Given the description of an element on the screen output the (x, y) to click on. 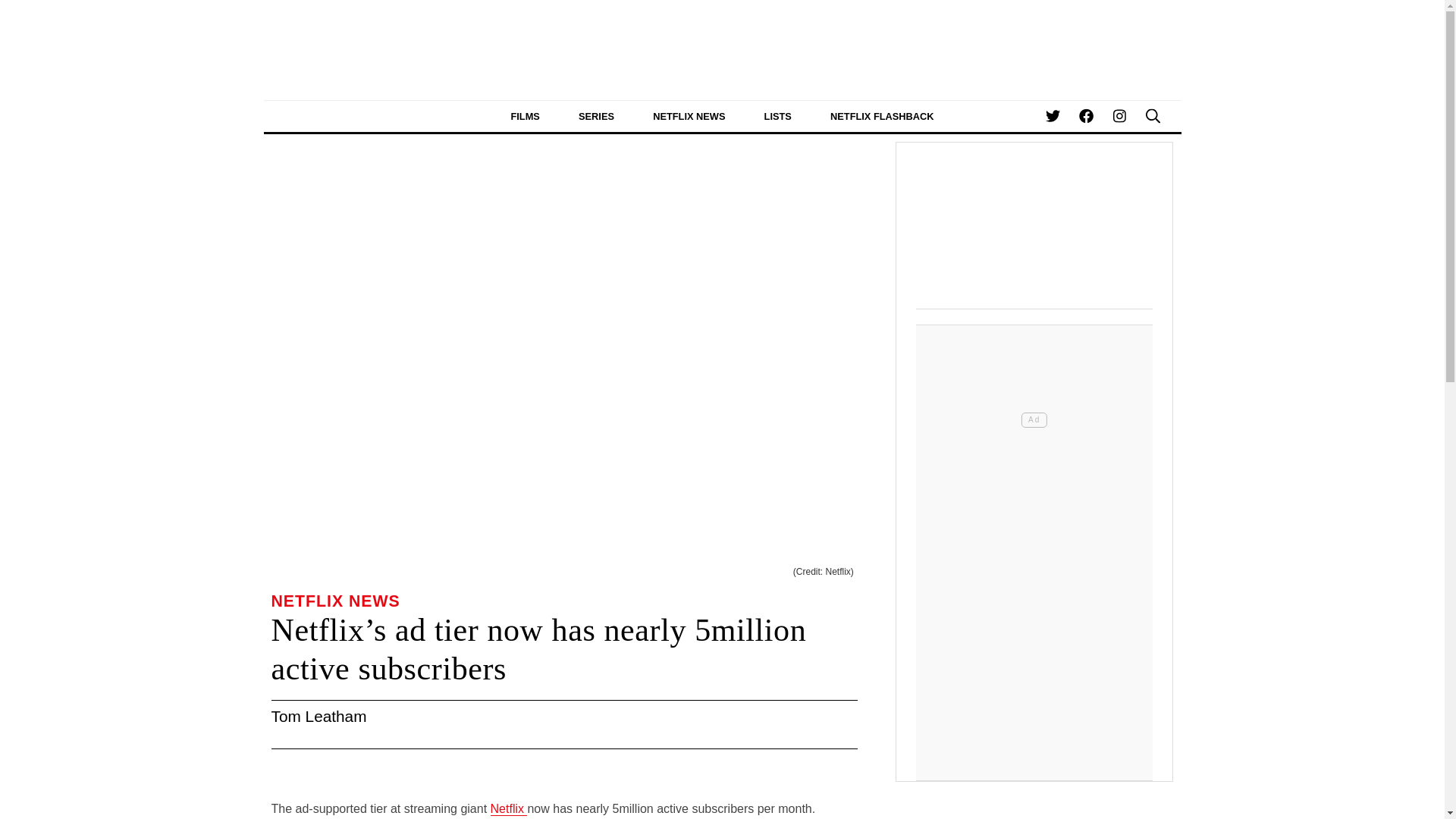
LISTS (777, 115)
FILMS (525, 115)
NETFLIX FLASHBACK (881, 115)
Posts by Tom Leatham (318, 715)
NETFLIX NEWS (688, 115)
Tom Leatham (318, 715)
Netflix (508, 808)
SERIES (596, 115)
NETFLIX NEWS (335, 601)
